Given the description of an element on the screen output the (x, y) to click on. 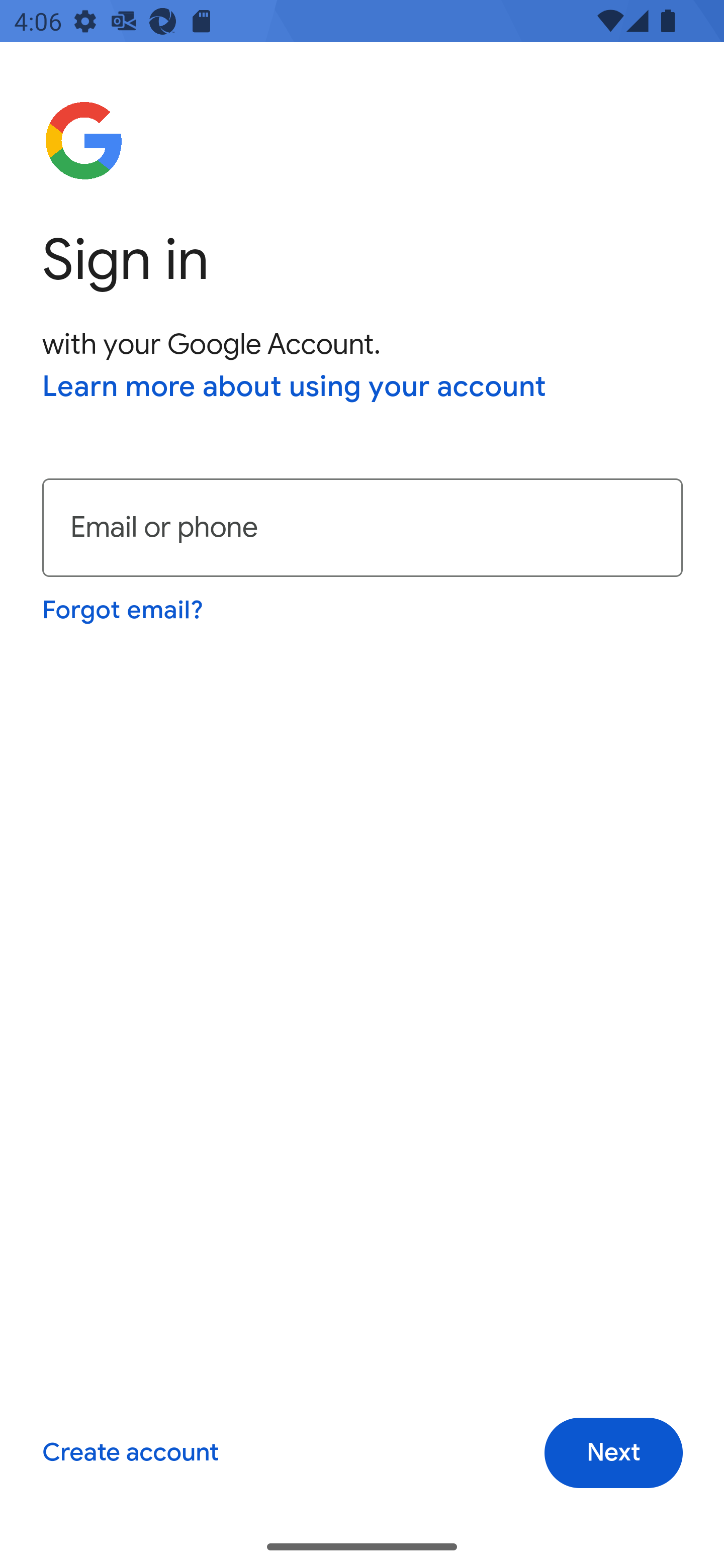
Learn more about using your account (294, 388)
Forgot email? (123, 609)
Next (613, 1453)
Create account (129, 1453)
